Given the description of an element on the screen output the (x, y) to click on. 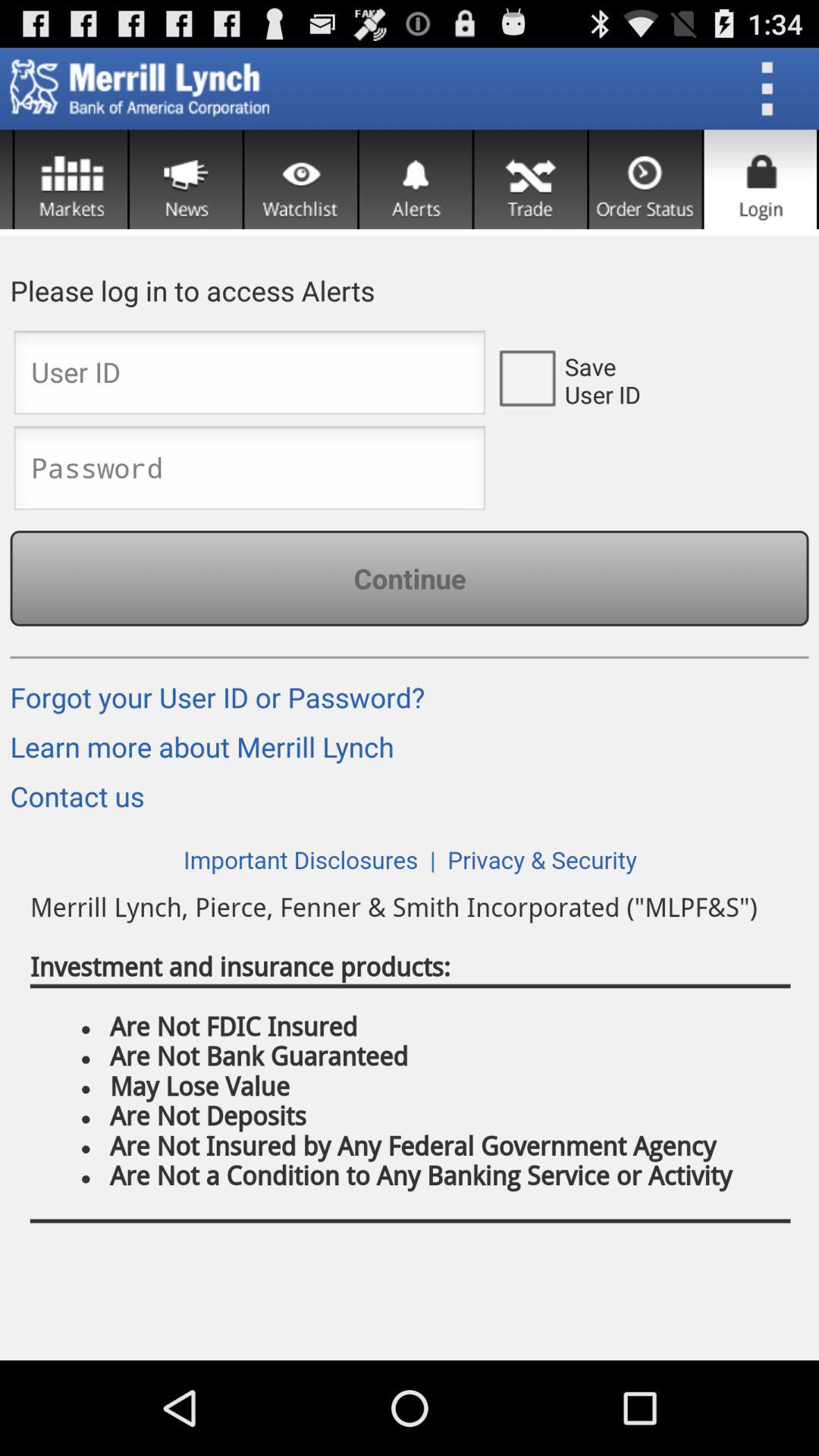
order status button (645, 179)
